Given the description of an element on the screen output the (x, y) to click on. 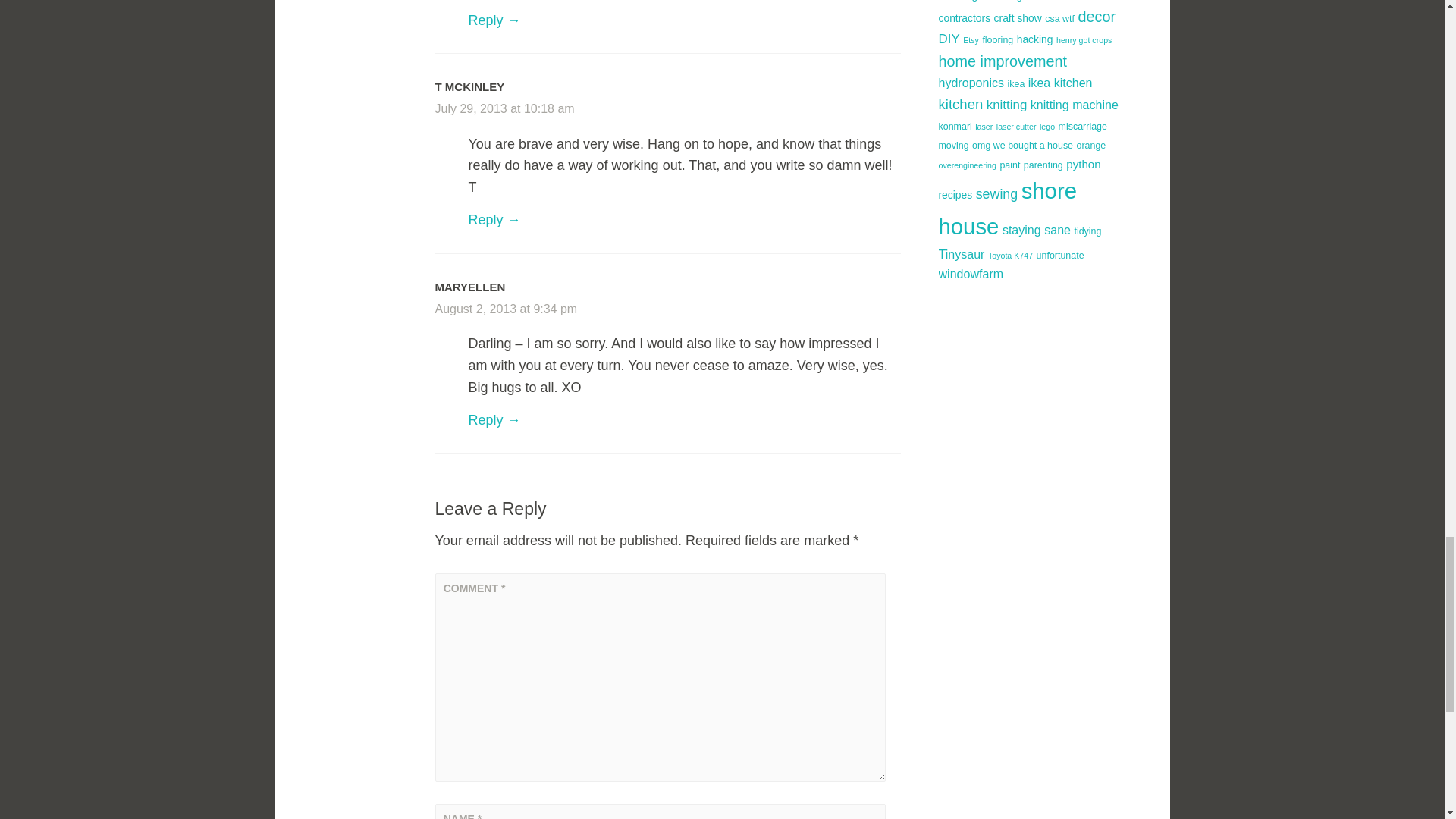
August 2, 2013 at 9:34 pm (506, 308)
Reply (494, 20)
Reply (494, 419)
July 29, 2013 at 10:18 am (505, 108)
Reply (494, 219)
